Given the description of an element on the screen output the (x, y) to click on. 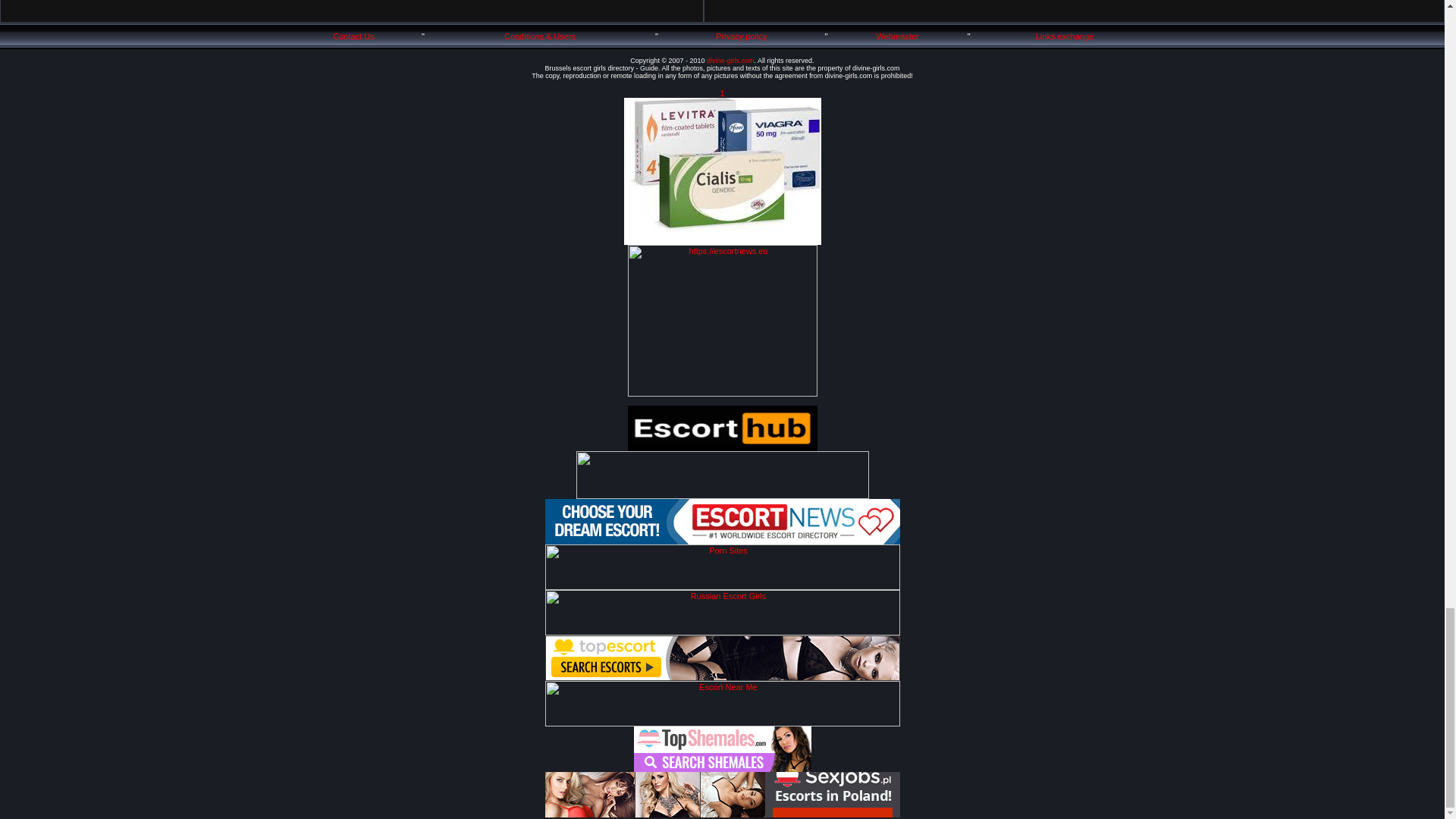
Porn Sites List (721, 586)
Escort Near Me (721, 723)
Topescort (721, 677)
Escorts near me (721, 541)
Top Shemales Escort (721, 768)
Russian escort (721, 632)
